Given the description of an element on the screen output the (x, y) to click on. 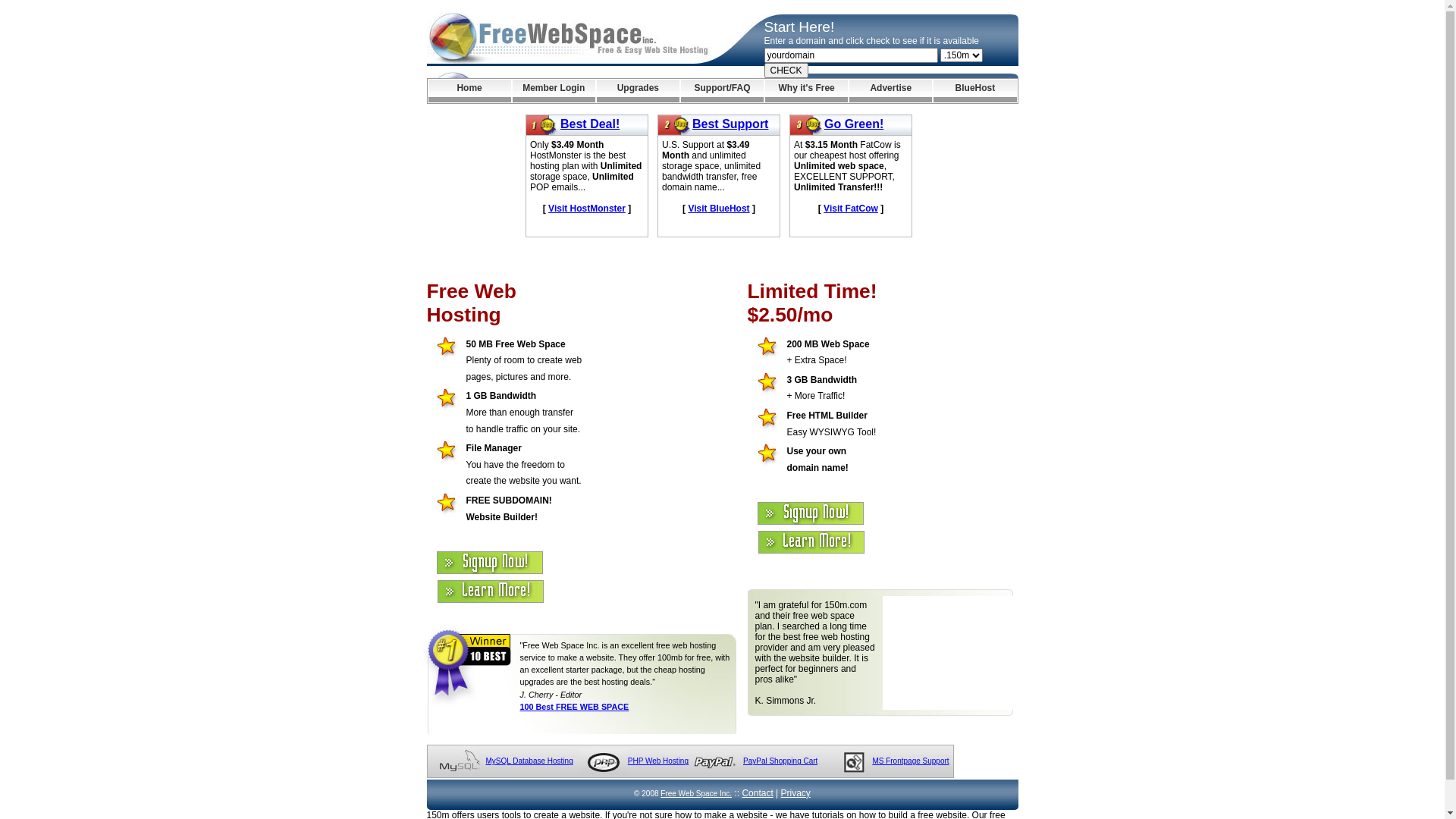
Privacy Element type: text (795, 792)
100 Best FREE WEB SPACE Element type: text (574, 706)
Member Login Element type: text (553, 90)
Support/FAQ Element type: text (721, 90)
MS Frontpage Support Element type: text (910, 760)
BlueHost Element type: text (974, 90)
Why it's Free Element type: text (806, 90)
Contact Element type: text (756, 792)
PHP Web Hosting Element type: text (657, 760)
Free Web Space Inc. Element type: text (695, 793)
Upgrades Element type: text (637, 90)
PayPal Shopping Cart Element type: text (780, 760)
Advertise Element type: text (890, 90)
CHECK Element type: text (786, 70)
Home Element type: text (468, 90)
MySQL Database Hosting Element type: text (528, 760)
